Given the description of an element on the screen output the (x, y) to click on. 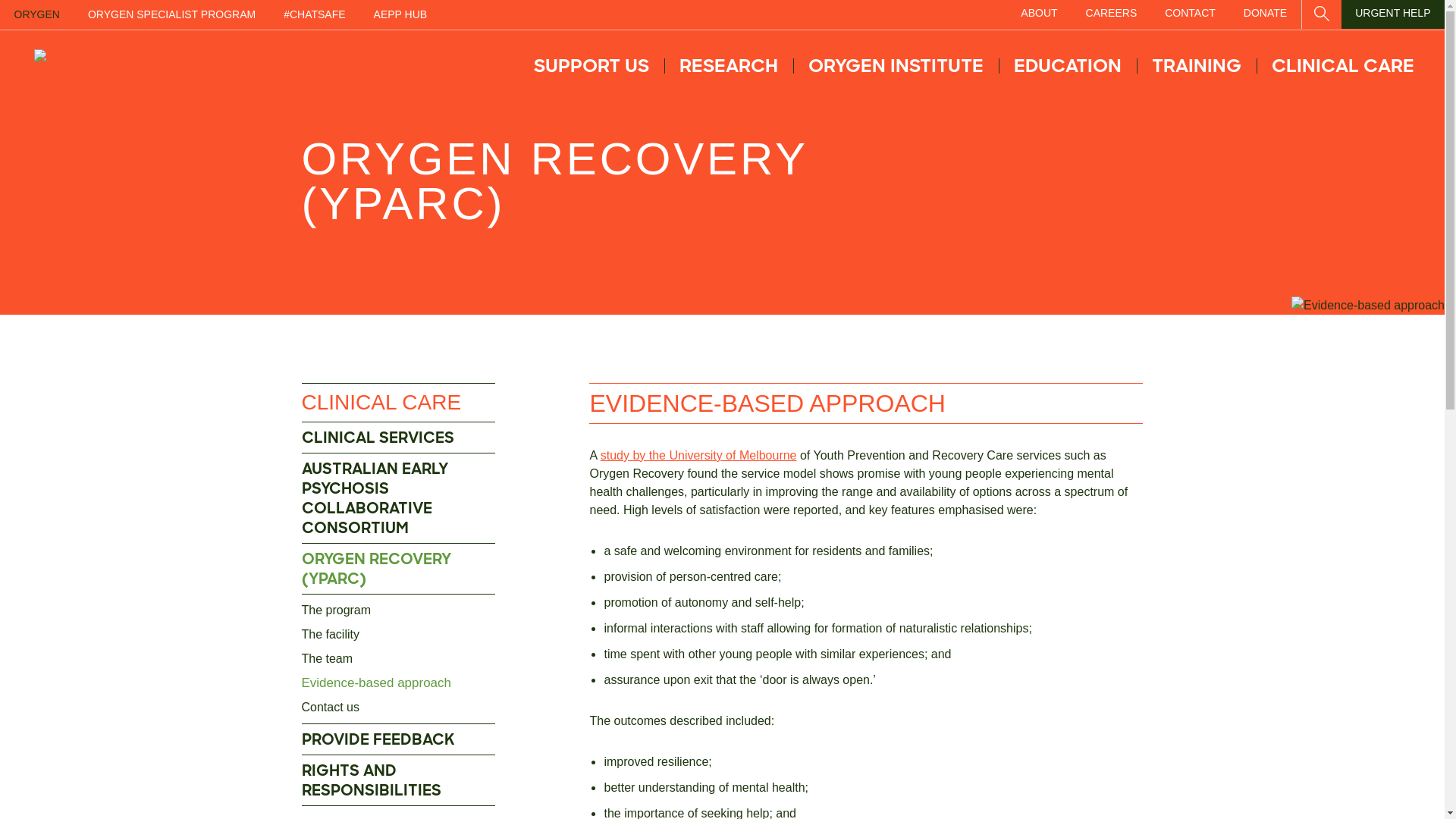
RESEARCH Element type: text (728, 65)
Contact us Element type: text (398, 707)
PROVIDE FEEDBACK Element type: text (398, 739)
ORYGEN Element type: text (36, 15)
CLINICAL SERVICES Element type: text (398, 437)
TRAINING Element type: text (1196, 65)
The team Element type: text (398, 658)
CLINICAL CARE Element type: text (1342, 65)
ORYGEN RECOVERY (YPARC) Element type: text (398, 568)
ORYGEN INSTITUTE Element type: text (895, 65)
RIGHTS AND RESPONSIBILITIES Element type: text (398, 780)
Search Element type: hover (1321, 11)
ORYGEN SPECIALIST PROGRAM Element type: text (171, 15)
SUPPORT US Element type: text (591, 65)
#CHATSAFE Element type: text (314, 15)
study by the University of Melbourne Element type: text (698, 454)
EDUCATION Element type: text (1067, 65)
AUSTRALIAN EARLY PSYCHOSIS COLLABORATIVE CONSORTIUM Element type: text (398, 498)
Evidence-based approach Element type: text (398, 683)
The facility Element type: text (398, 634)
CLINICAL CARE Element type: text (398, 402)
The program Element type: text (398, 610)
AEPP HUB Element type: text (400, 15)
